Given the description of an element on the screen output the (x, y) to click on. 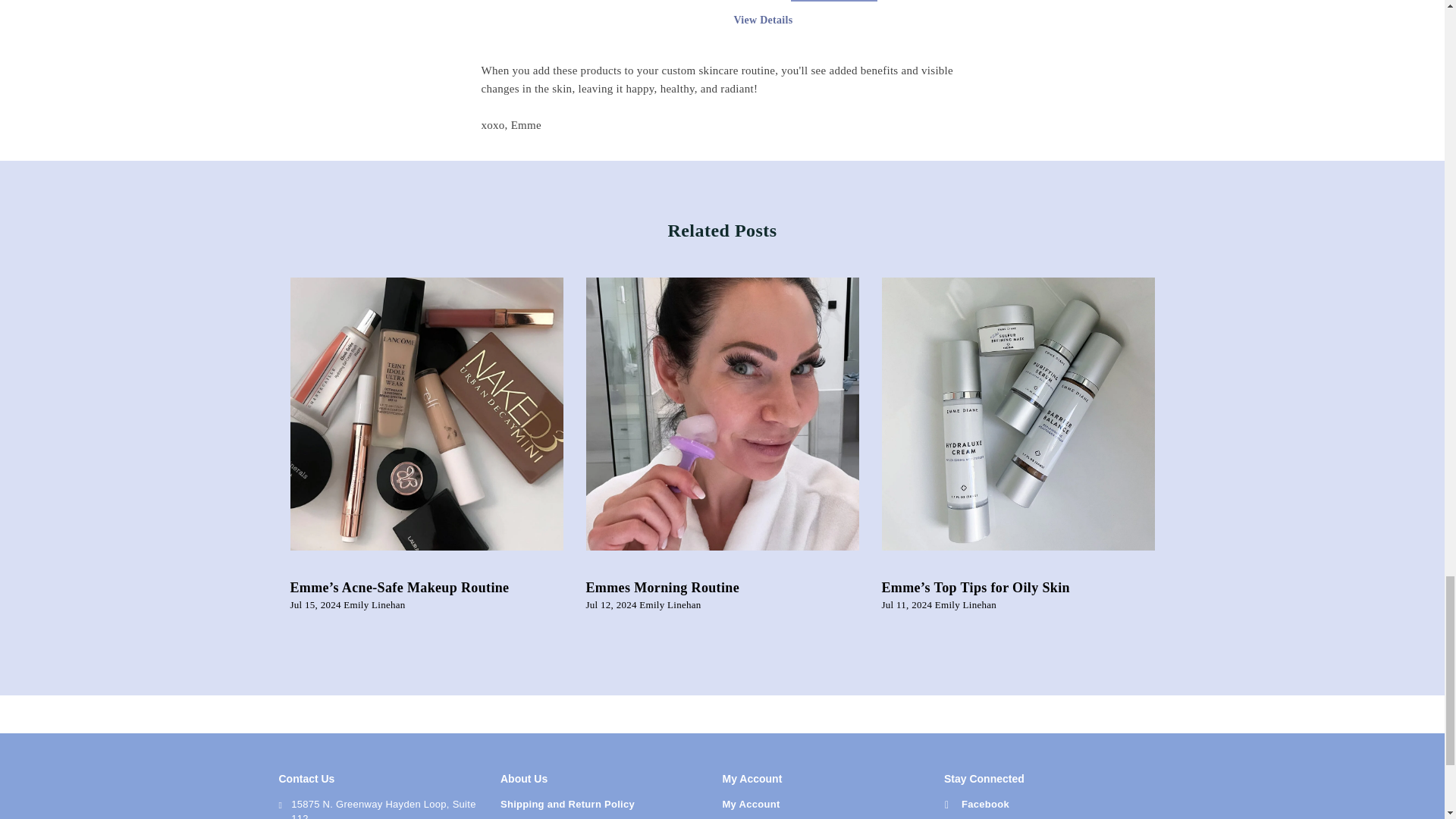
Emme Diane on Facebook (976, 804)
